Given the description of an element on the screen output the (x, y) to click on. 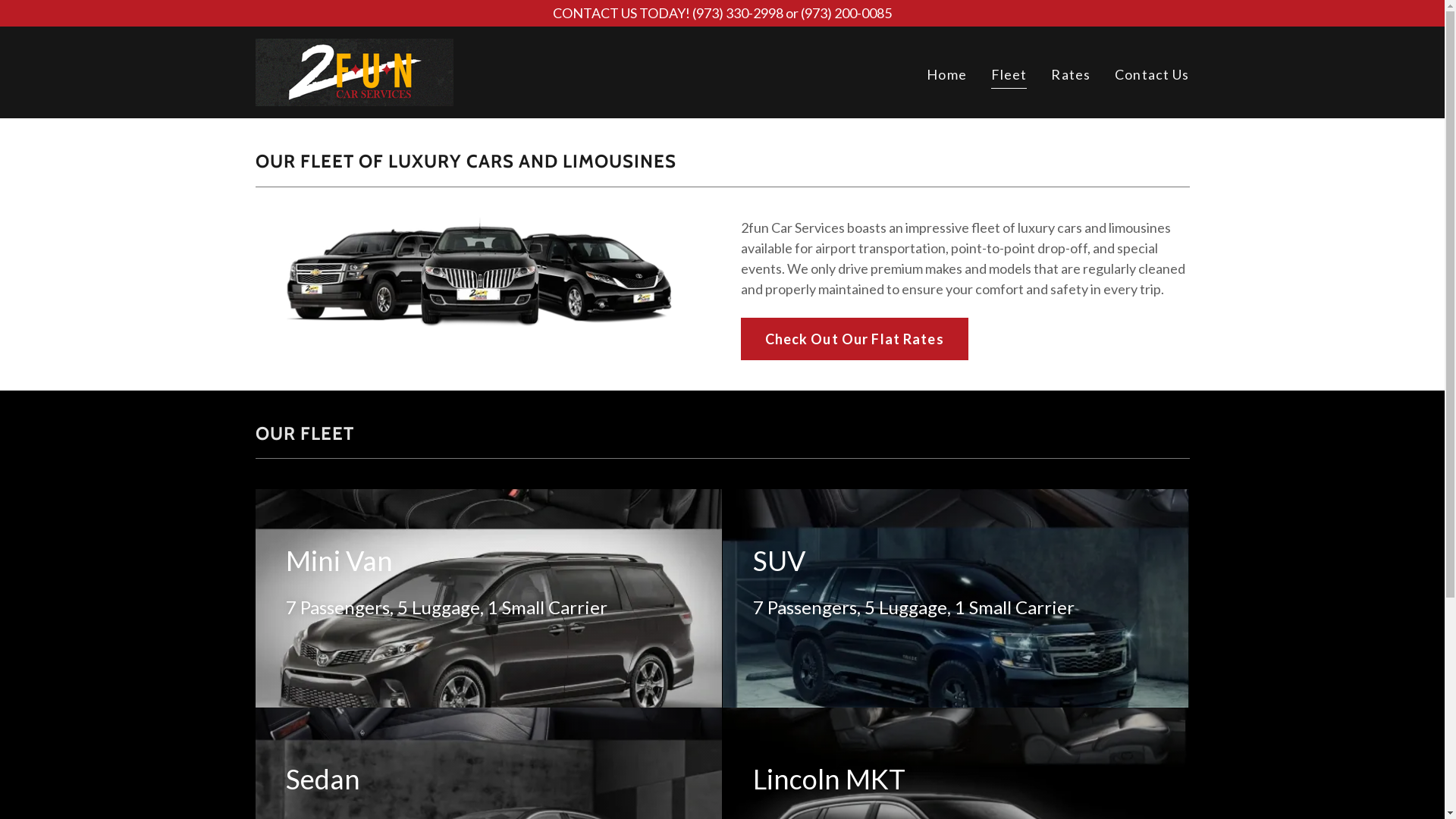
2fun Car Services Element type: hover (353, 70)
Contact Us Element type: text (1151, 73)
Rates Element type: text (1070, 73)
Fleet Element type: text (1009, 75)
Check Out Our Flat Rates Element type: text (853, 338)
Home Element type: text (946, 73)
